Given the description of an element on the screen output the (x, y) to click on. 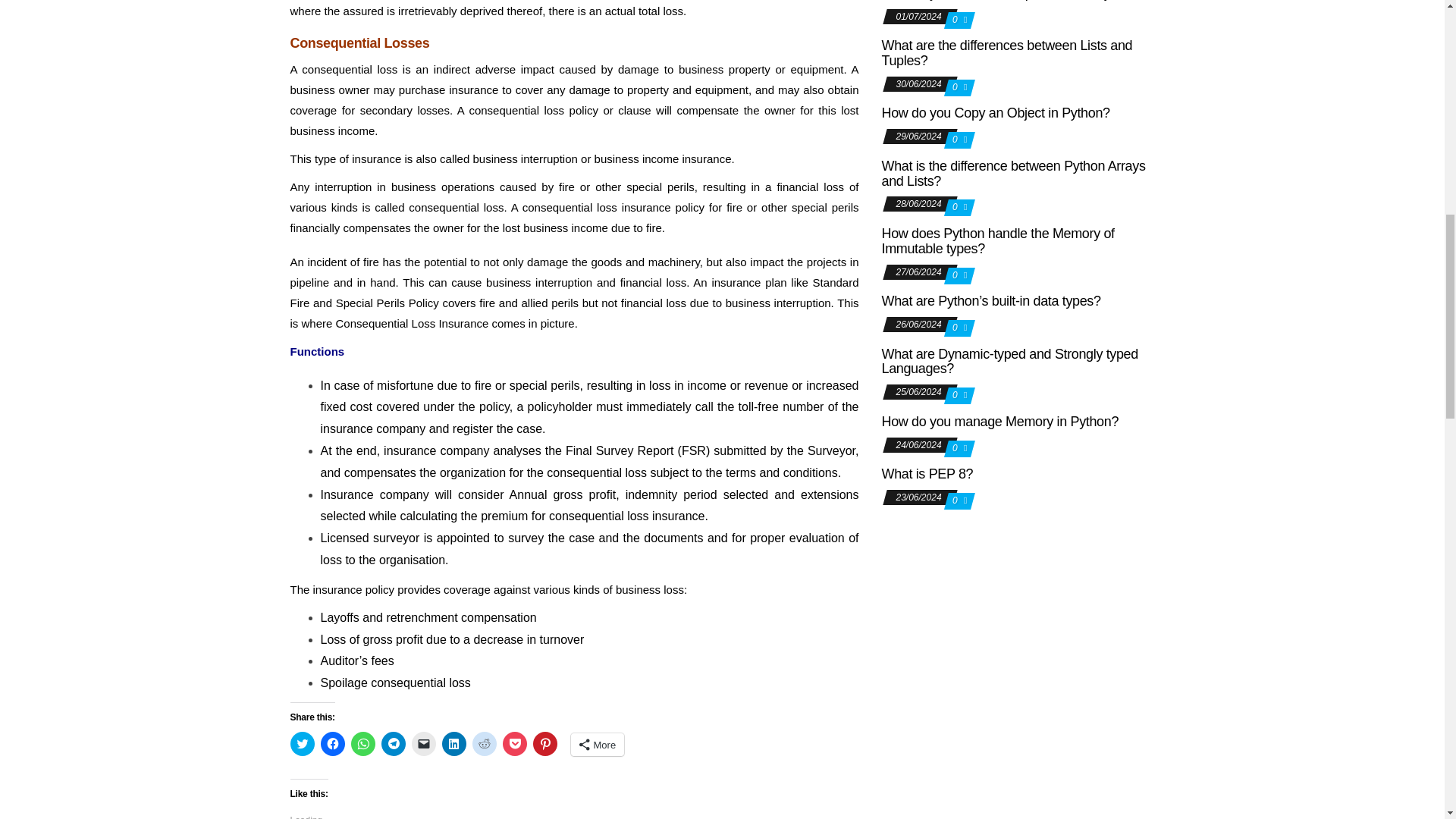
More (597, 744)
